Given the description of an element on the screen output the (x, y) to click on. 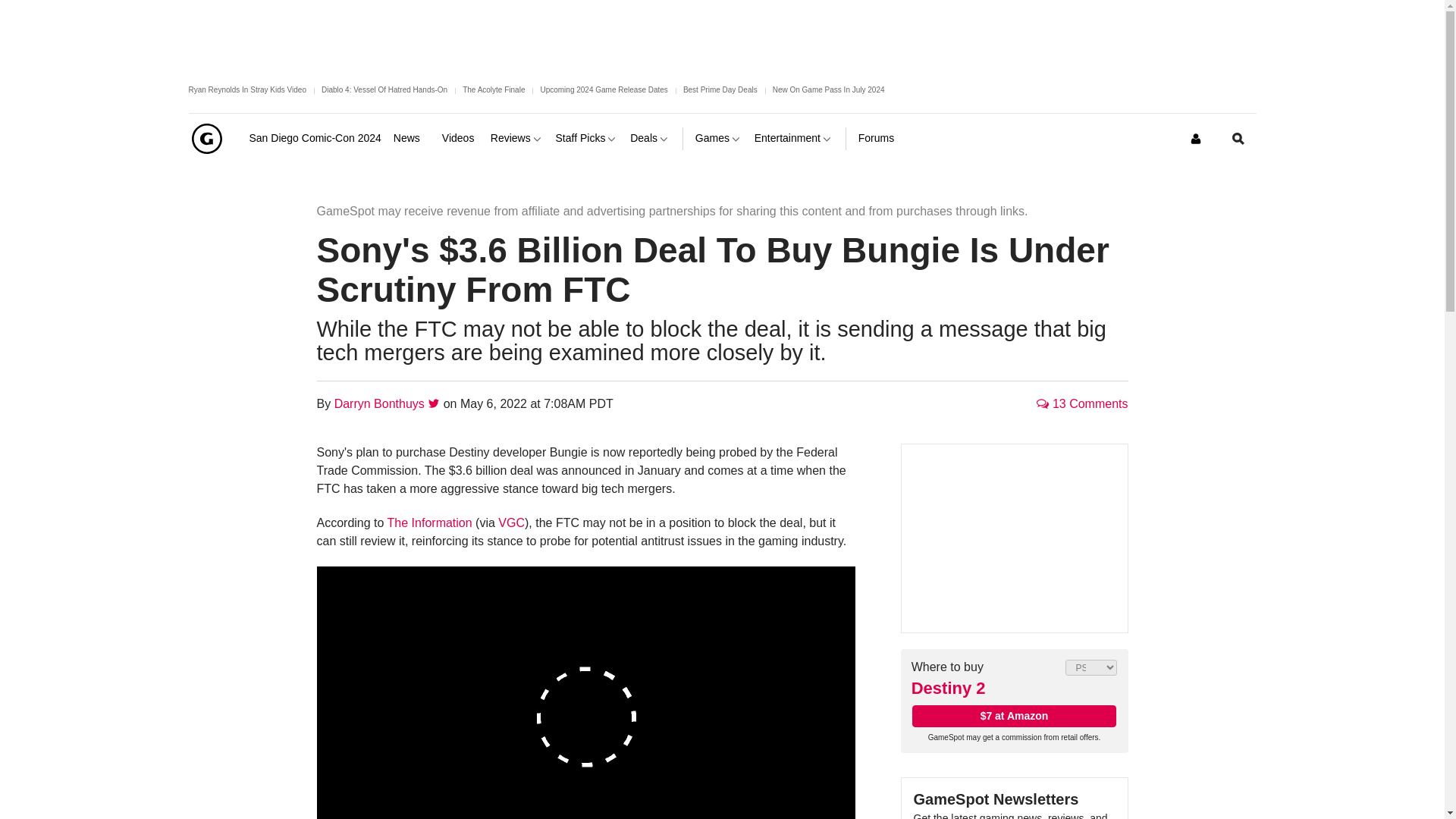
Deals (649, 138)
Diablo 4: Vessel Of Hatred Hands-On (383, 89)
GameSpot (205, 138)
San Diego Comic-Con 2024 (314, 138)
Staff Picks (587, 138)
Reviews (516, 138)
News (411, 138)
New On Game Pass In July 2024 (829, 89)
Best Prime Day Deals (719, 89)
Upcoming 2024 Game Release Dates (603, 89)
Ryan Reynolds In Stray Kids Video (246, 89)
The Acolyte Finale (493, 89)
Videos (460, 138)
Games (718, 138)
